Given the description of an element on the screen output the (x, y) to click on. 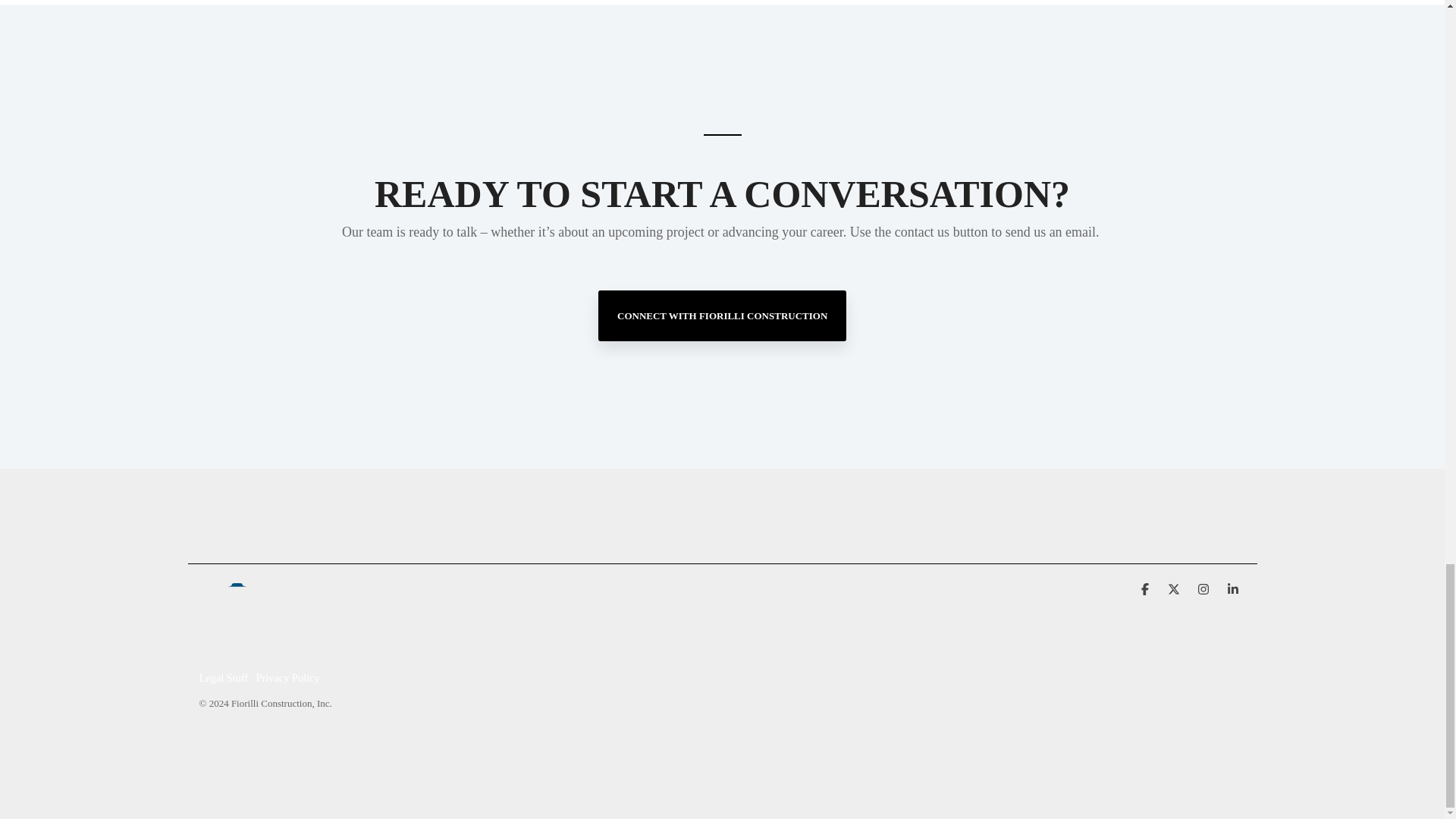
CONNECT WITH FIORILLI CONSTRUCTION (721, 315)
Legal Stuff (227, 678)
Privacy Policy (291, 678)
